Given the description of an element on the screen output the (x, y) to click on. 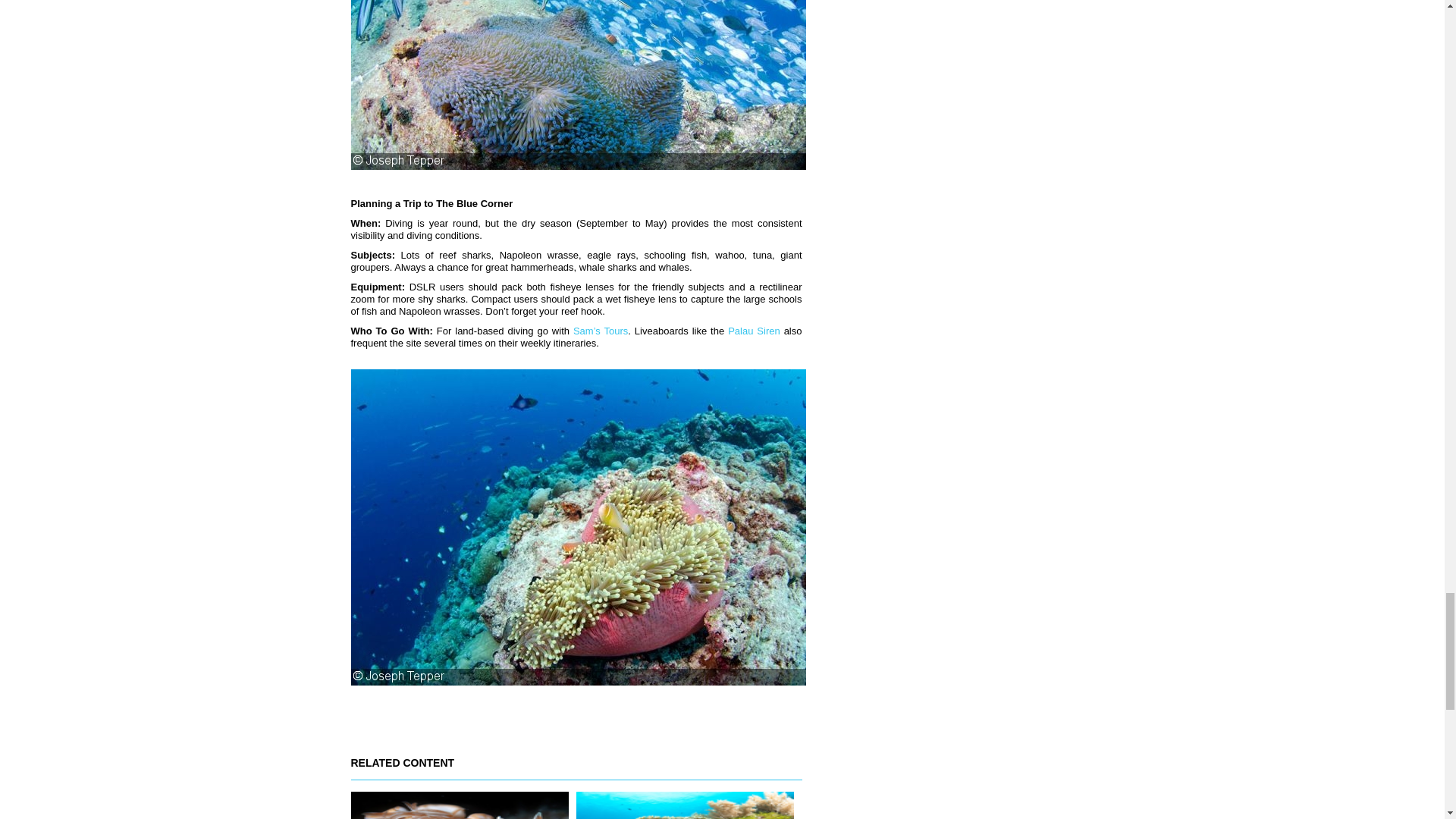
Famous Places, New Faces: Muck and Macro in Palau (458, 805)
Paradise Protected: Diving Palau with Master Liveaboards (684, 805)
